Given the description of an element on the screen output the (x, y) to click on. 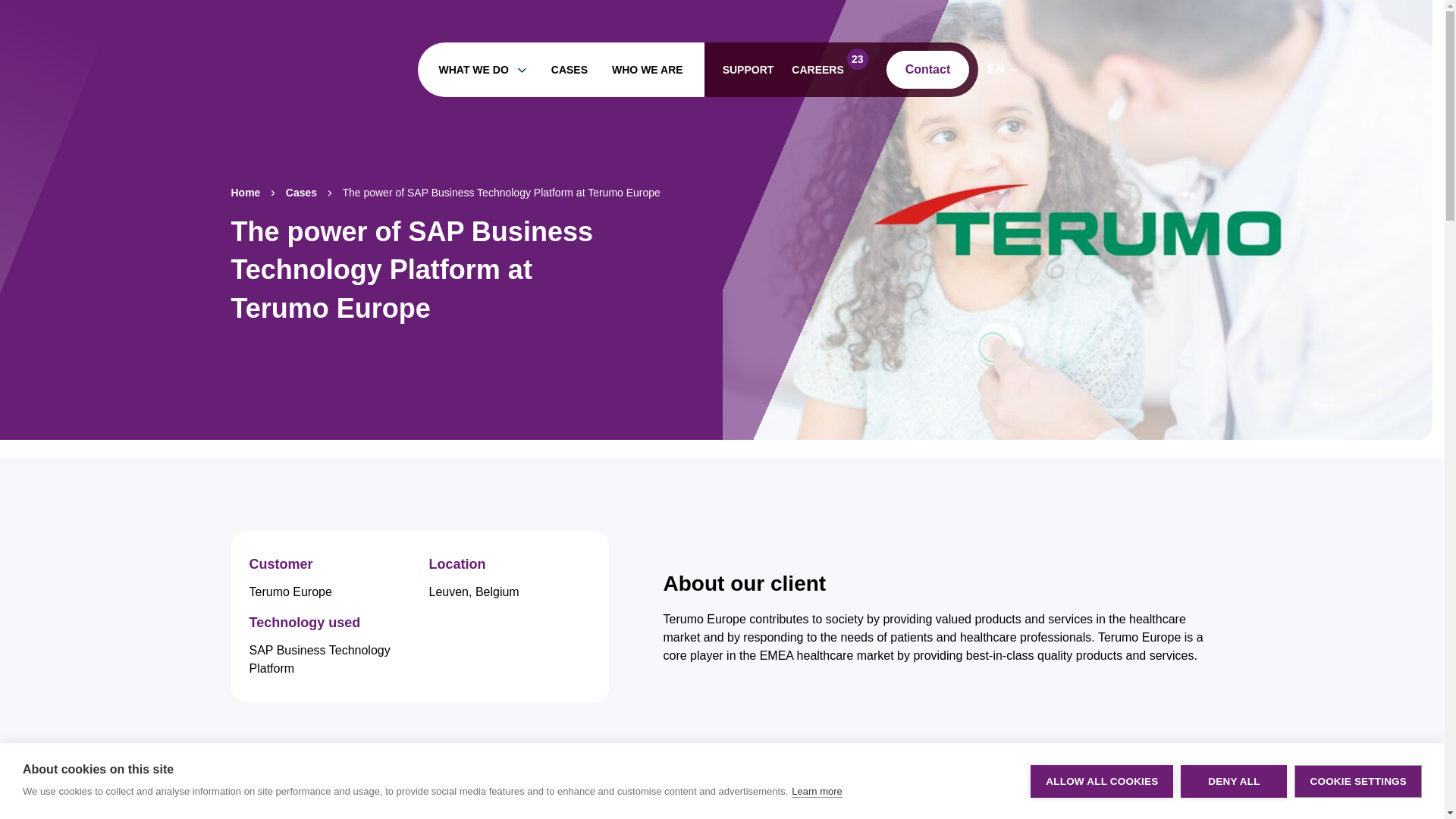
CASES (829, 69)
Contact (569, 69)
WHO WE ARE (927, 69)
Cases (646, 69)
WHAT WE DO (301, 192)
Home (483, 69)
SUPPORT (245, 192)
